Given the description of an element on the screen output the (x, y) to click on. 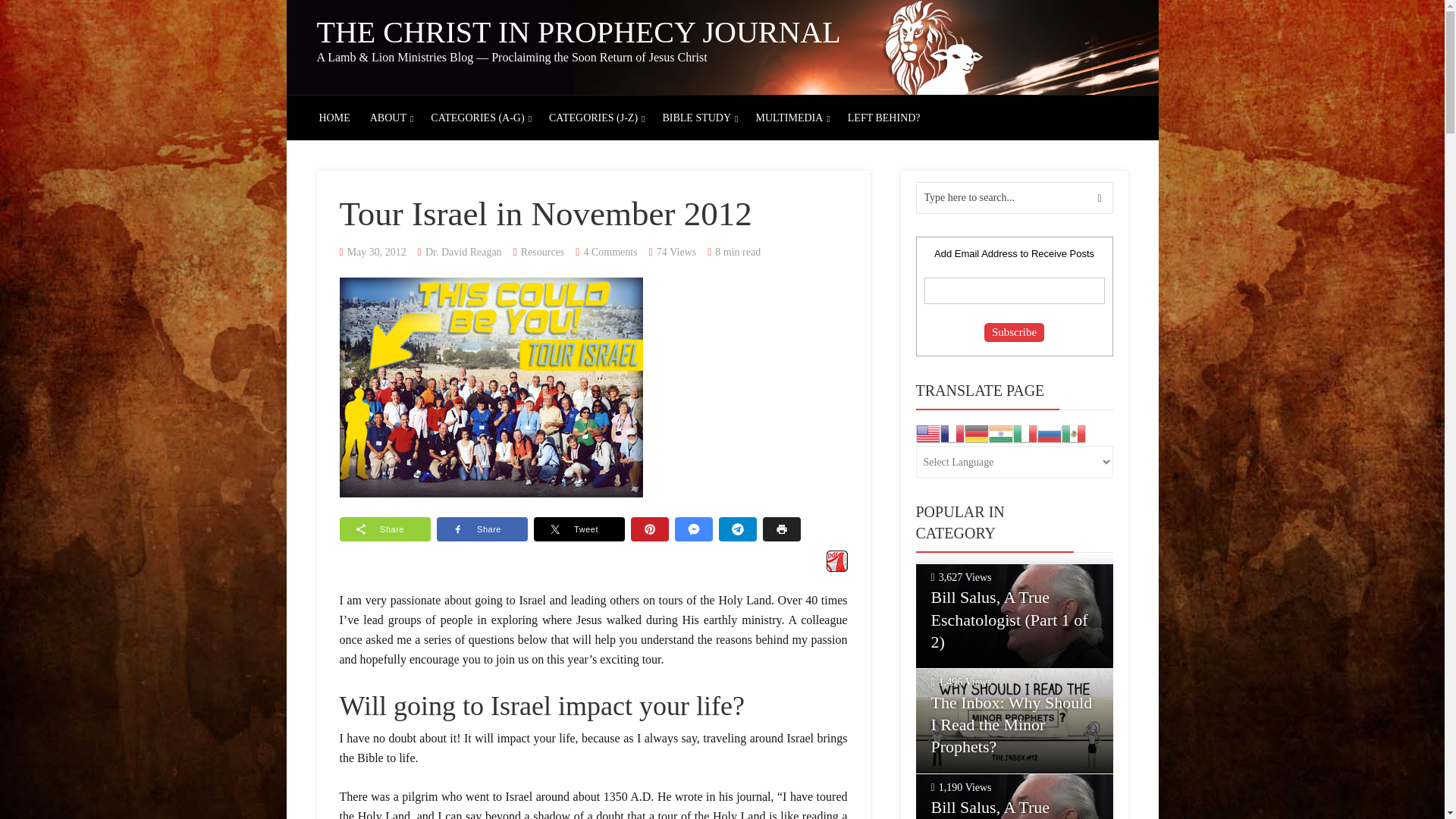
Subscribe (1013, 332)
Type here to search... (1014, 197)
Type here to search... (1014, 197)
French (951, 432)
PDF (837, 560)
The Christ in Prophecy Journal (579, 32)
English (927, 432)
Hindi (1000, 432)
German (975, 432)
